Given the description of an element on the screen output the (x, y) to click on. 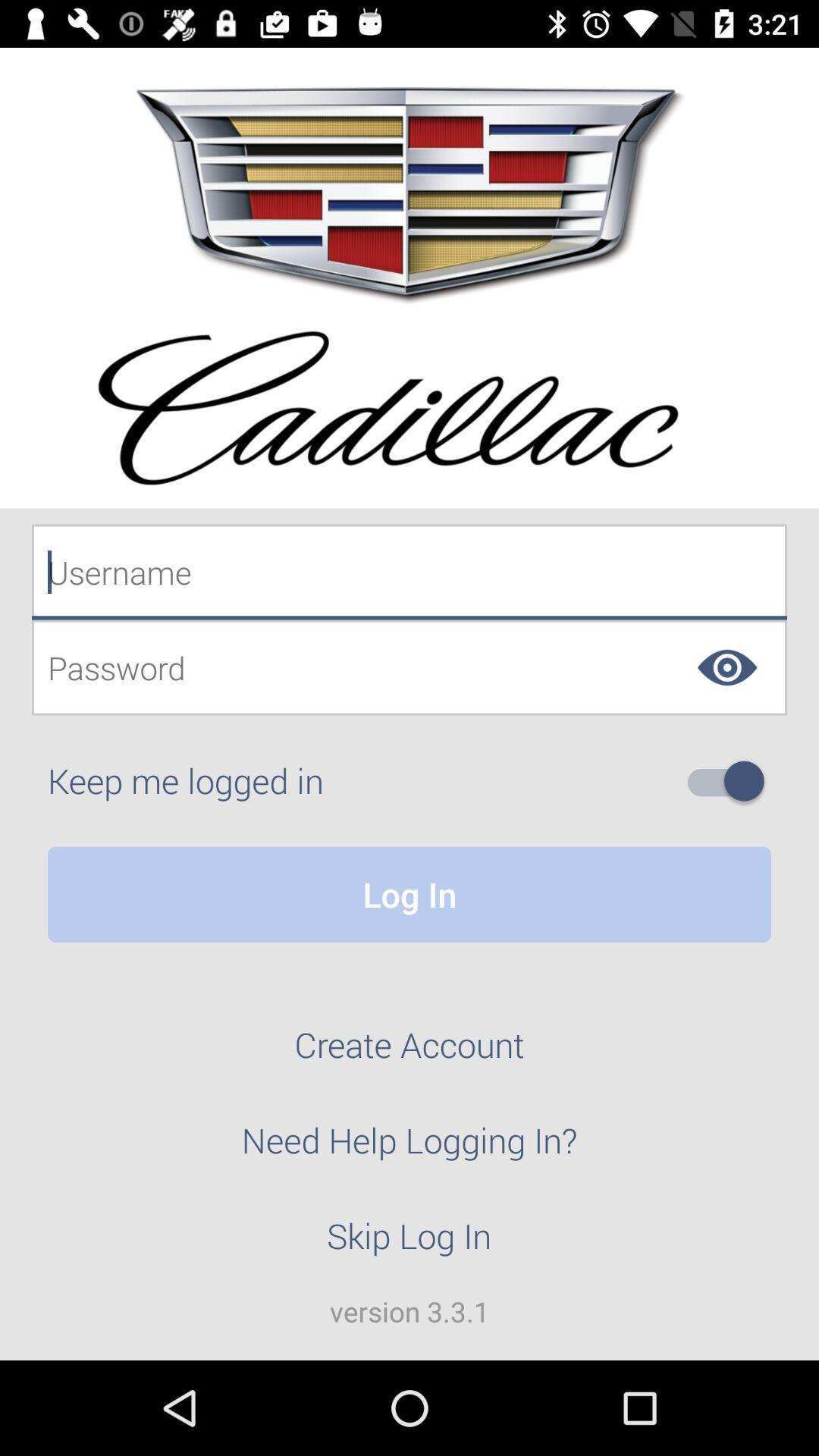
press icon below the log in item (409, 1053)
